Given the description of an element on the screen output the (x, y) to click on. 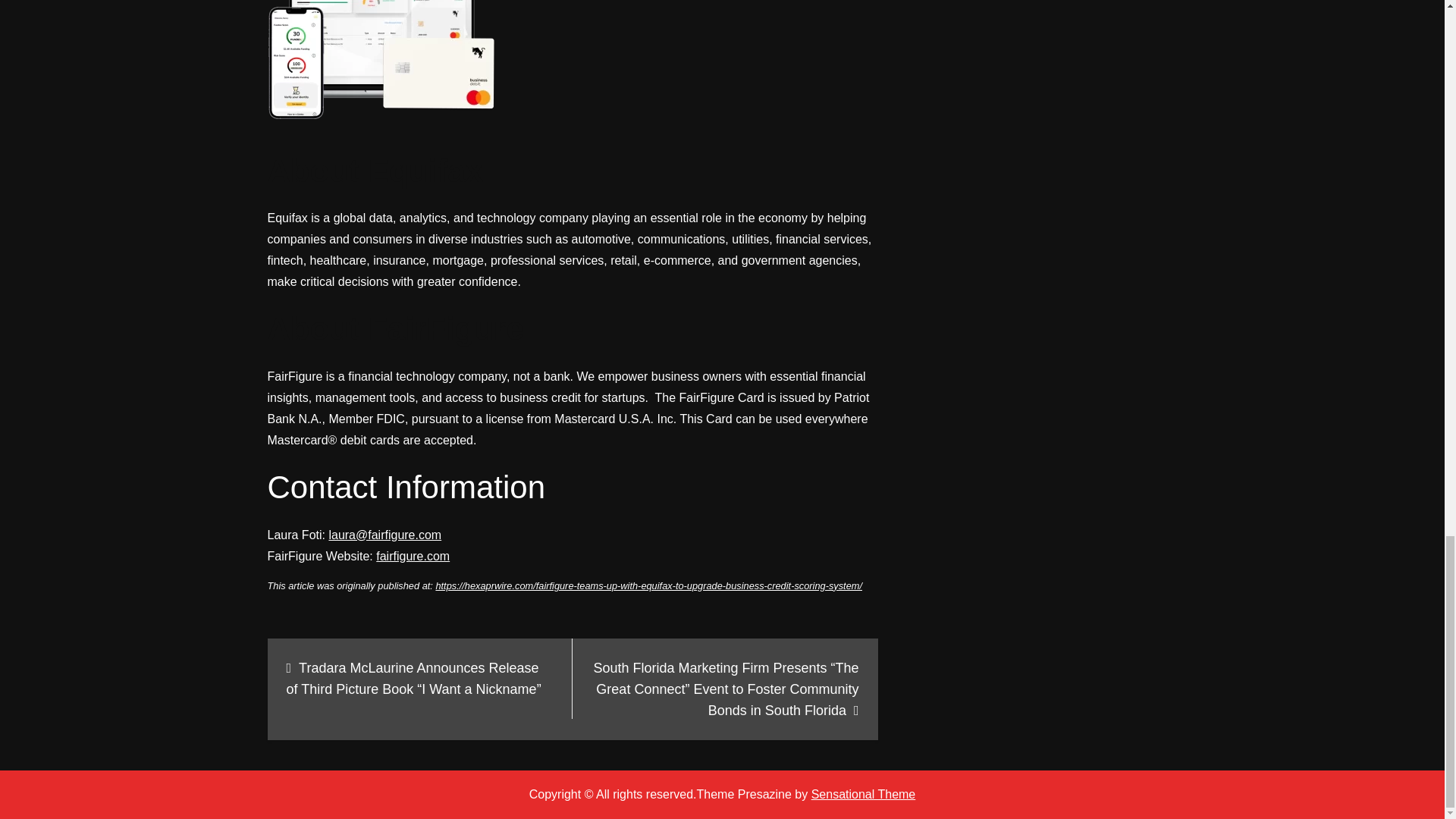
Sensational Theme (862, 793)
fairfigure.com (412, 555)
